Given the description of an element on the screen output the (x, y) to click on. 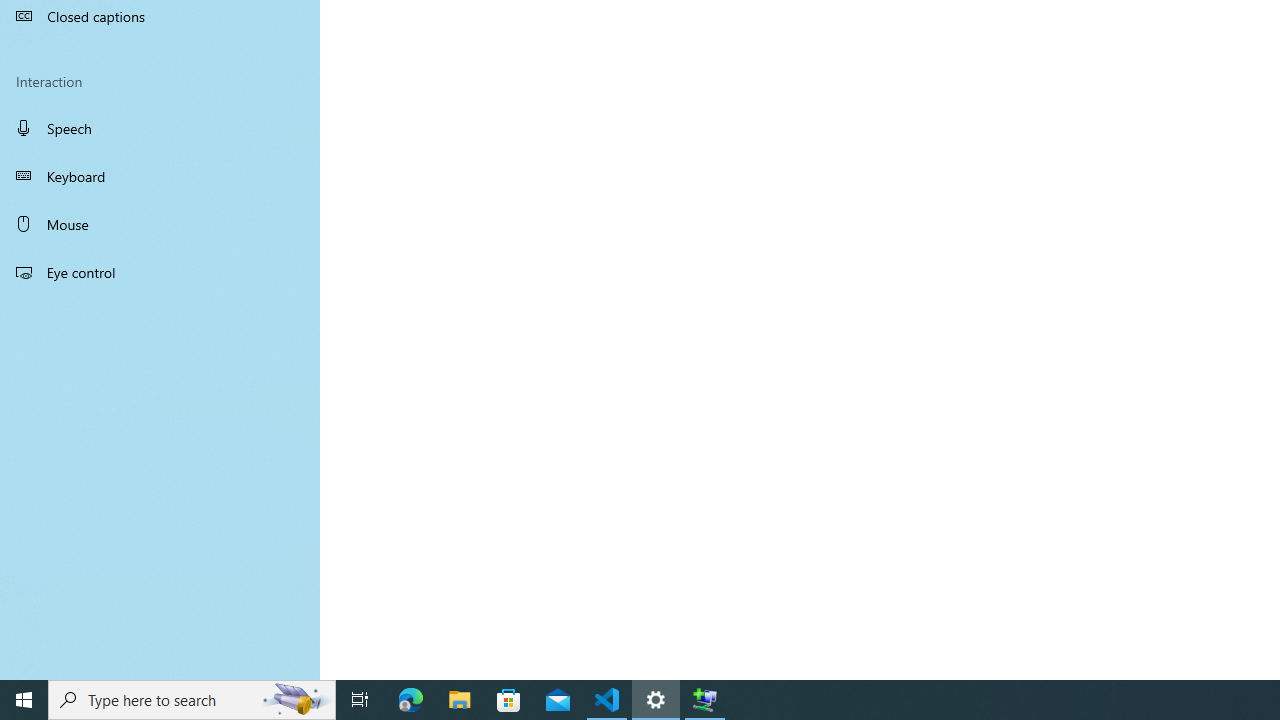
Microsoft Store (509, 699)
Speech (160, 127)
Extensible Wizards Host Process - 1 running window (704, 699)
Eye control (160, 271)
Visual Studio Code - 1 running window (607, 699)
Mouse (160, 223)
Keyboard (160, 175)
Search highlights icon opens search home window (295, 699)
Settings - 1 running window (656, 699)
Task View (359, 699)
Type here to search (191, 699)
File Explorer (460, 699)
Start (24, 699)
Microsoft Edge (411, 699)
